Given the description of an element on the screen output the (x, y) to click on. 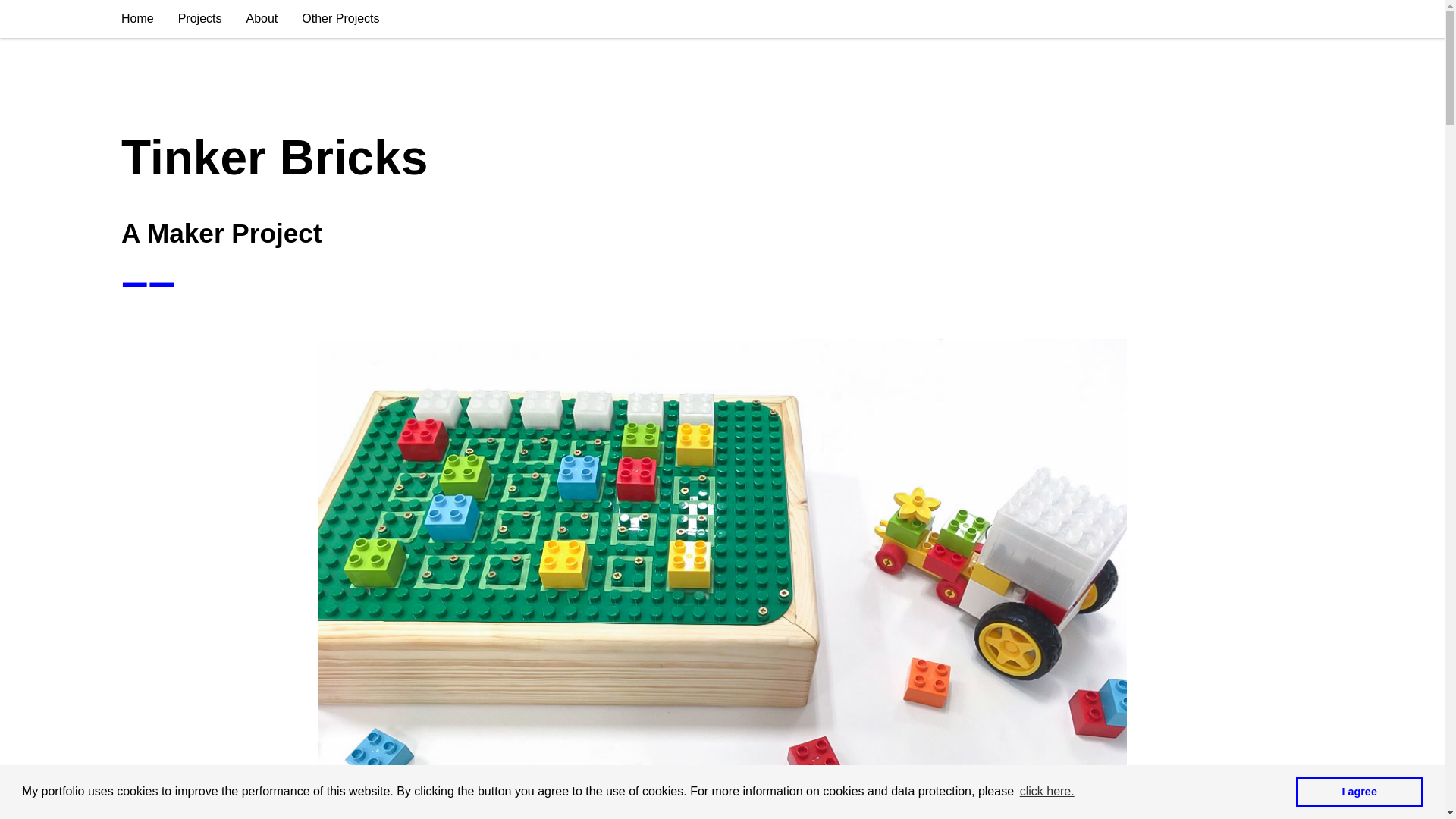
Other Projects (340, 18)
Projects (199, 18)
Home (137, 18)
About (260, 18)
click here. (1047, 791)
I agree (1358, 791)
